Given the description of an element on the screen output the (x, y) to click on. 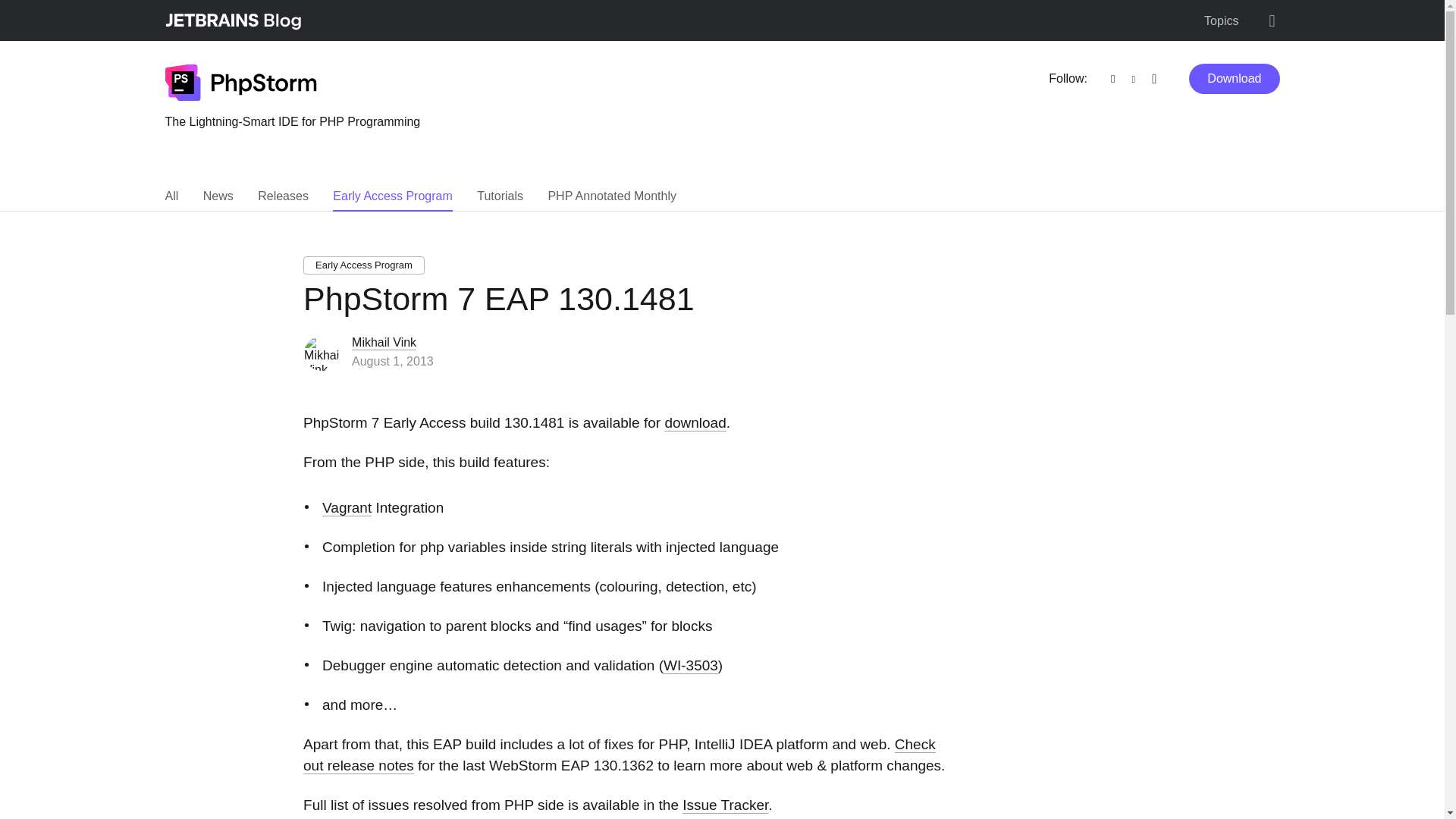
Topics (1221, 21)
